Given the description of an element on the screen output the (x, y) to click on. 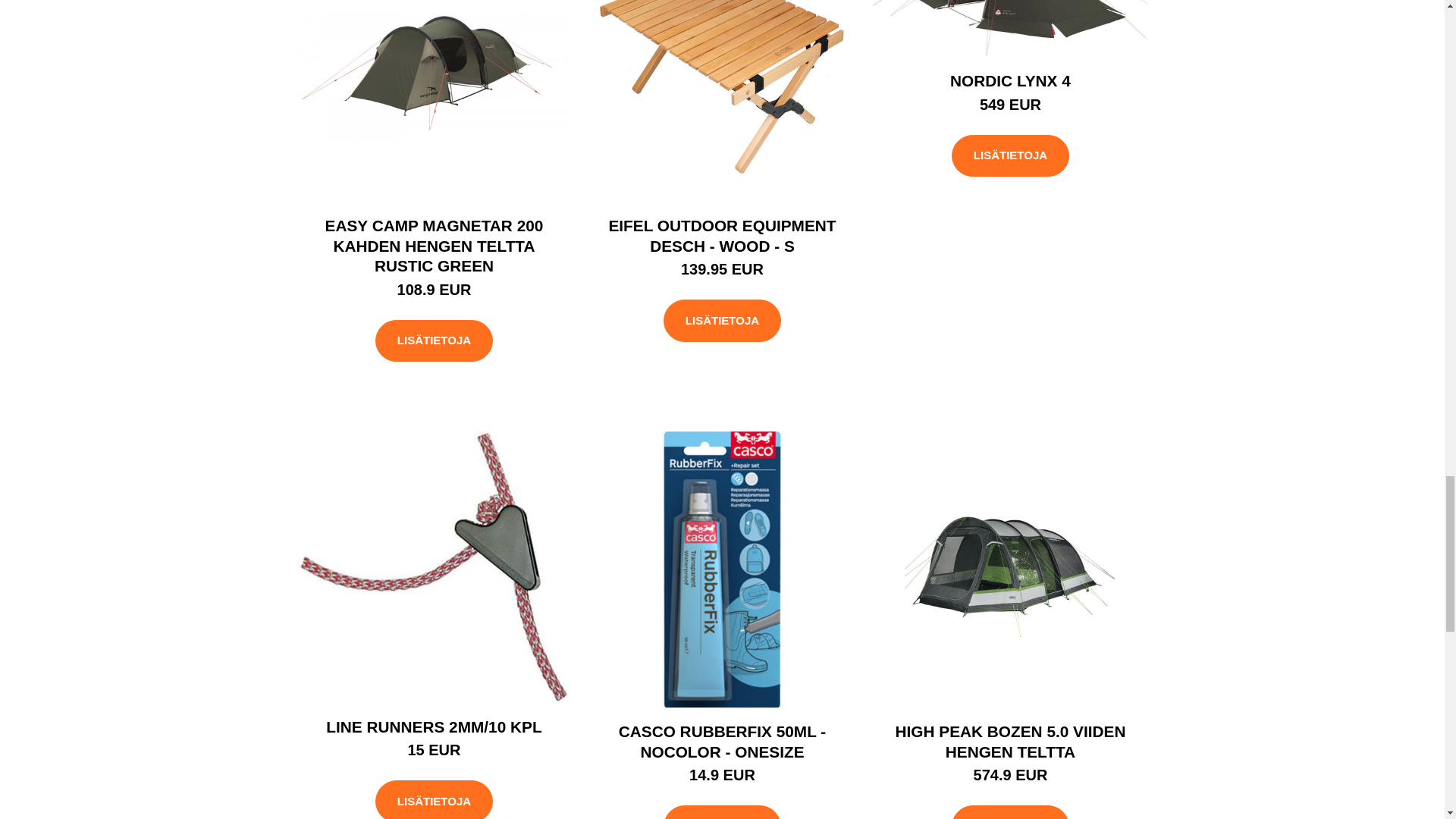
EIFEL OUTDOOR EQUIPMENT DESCH - WOOD - S (721, 235)
EASY CAMP MAGNETAR 200 KAHDEN HENGEN TELTTA RUSTIC GREEN (433, 245)
NORDIC LYNX 4 (1010, 80)
